Given the description of an element on the screen output the (x, y) to click on. 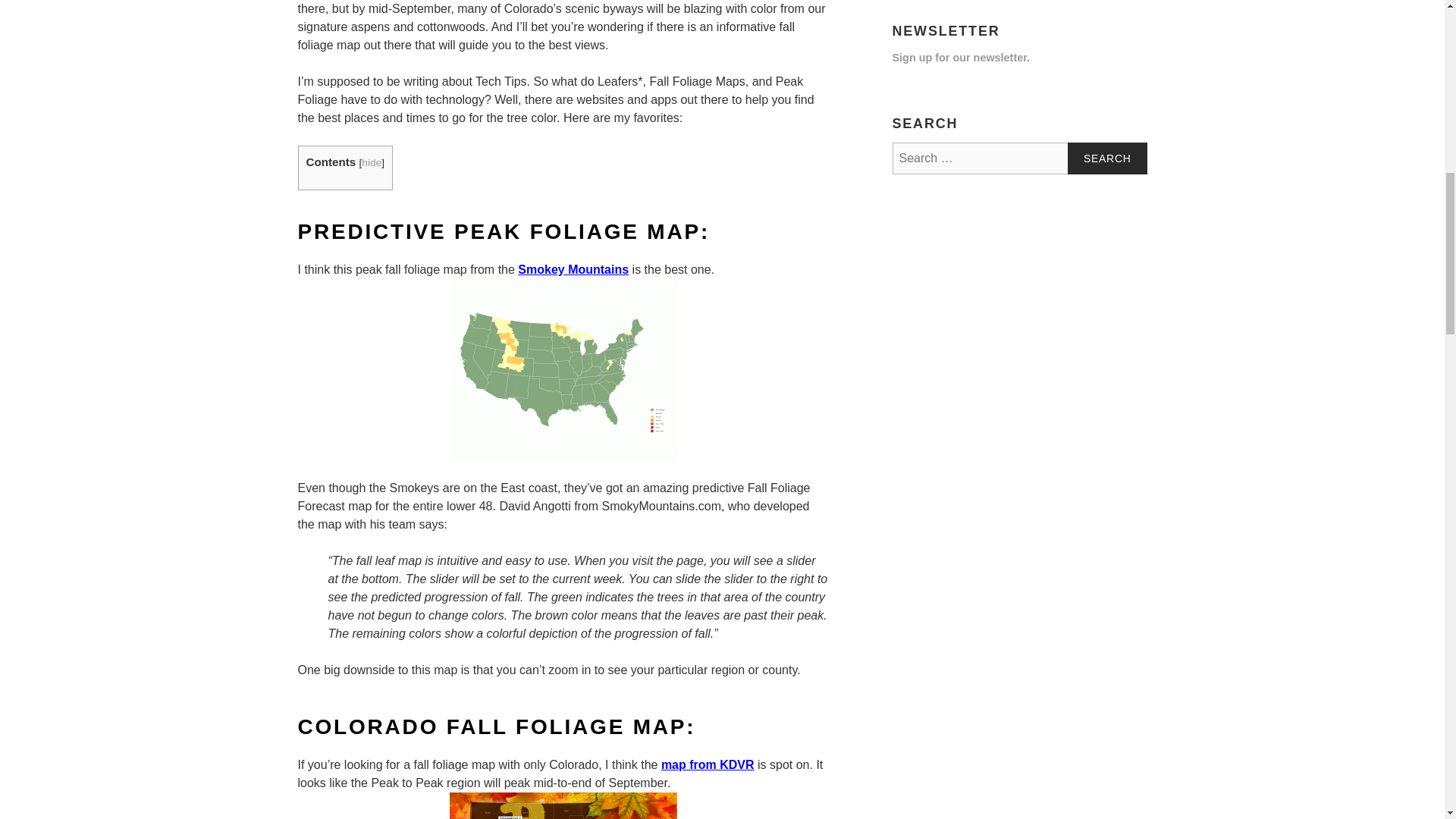
map from KDVR (707, 765)
Sign up for our newsletter. (960, 58)
Search (1107, 158)
Search (1107, 158)
Smokey Mountains (573, 269)
hide (371, 162)
Search (1107, 158)
